Given the description of an element on the screen output the (x, y) to click on. 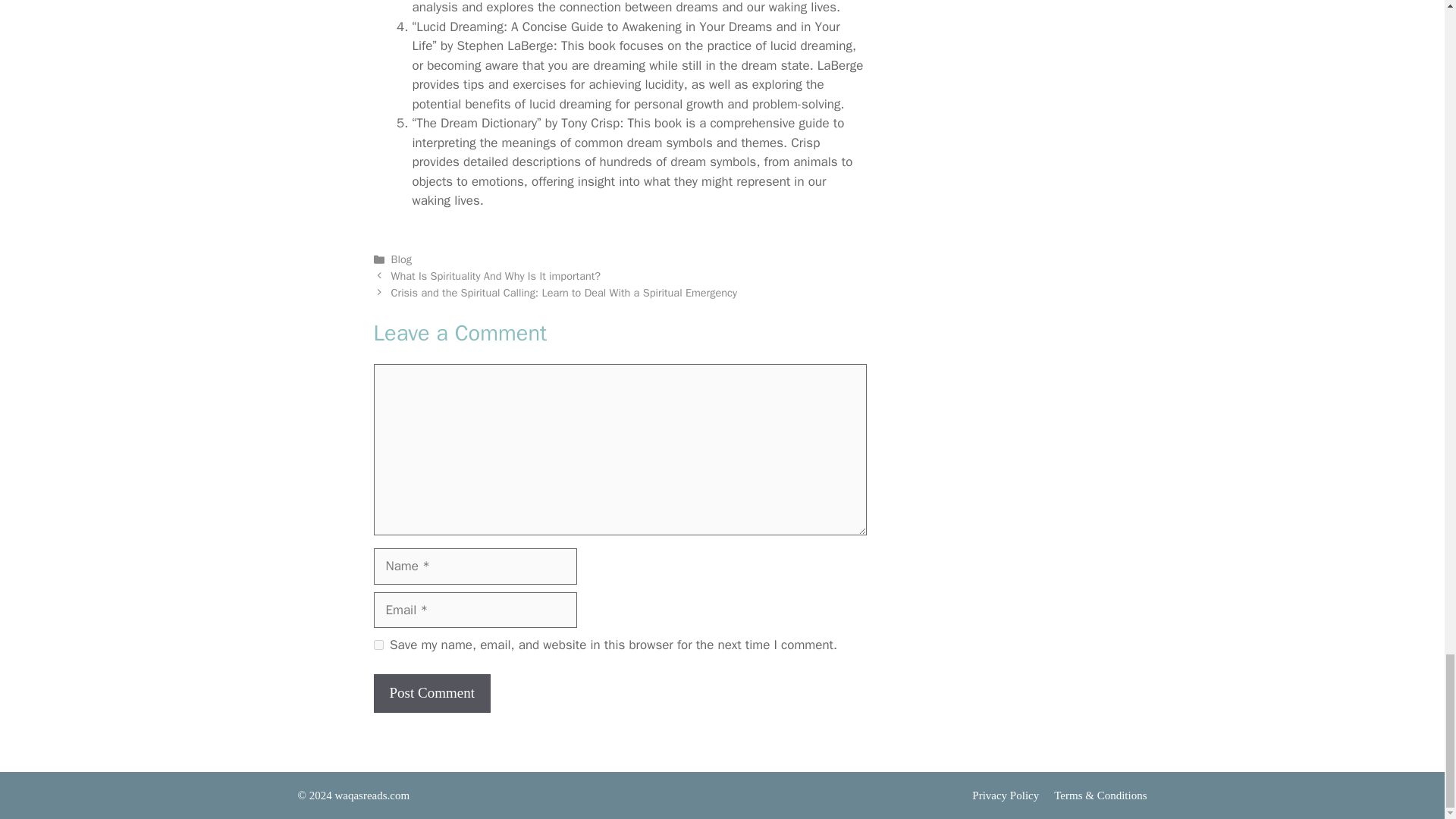
Post Comment (430, 693)
Blog (401, 259)
Post Comment (430, 693)
yes (377, 644)
What Is Spirituality And Why Is It important? (496, 275)
Privacy Policy (1005, 795)
